Given the description of an element on the screen output the (x, y) to click on. 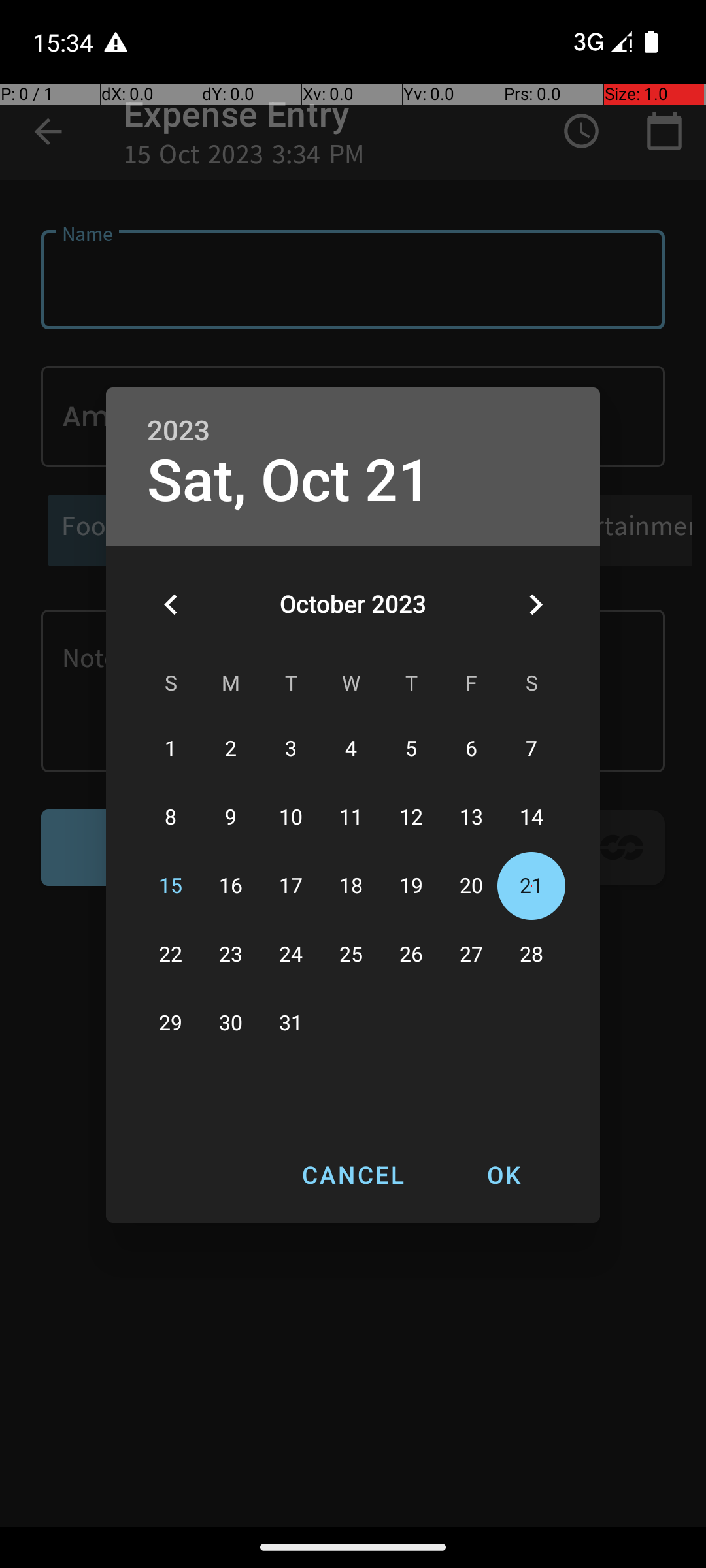
2023 Element type: android.widget.TextView (178, 430)
Sat, Oct 21 Element type: android.widget.TextView (289, 480)
Previous month Element type: android.widget.ImageButton (170, 604)
Next month Element type: android.widget.ImageButton (535, 604)
24 Element type: android.view.View (290, 954)
26 Element type: android.view.View (411, 954)
27 Element type: android.view.View (471, 954)
28 Element type: android.view.View (531, 954)
29 Element type: android.view.View (170, 1023)
31 Element type: android.view.View (290, 1023)
